Given the description of an element on the screen output the (x, y) to click on. 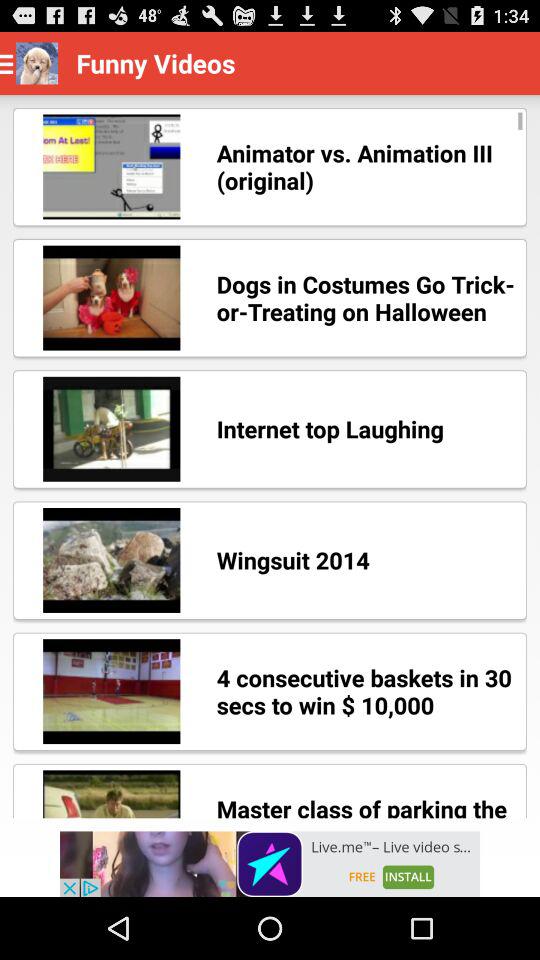
download app (270, 864)
